Given the description of an element on the screen output the (x, y) to click on. 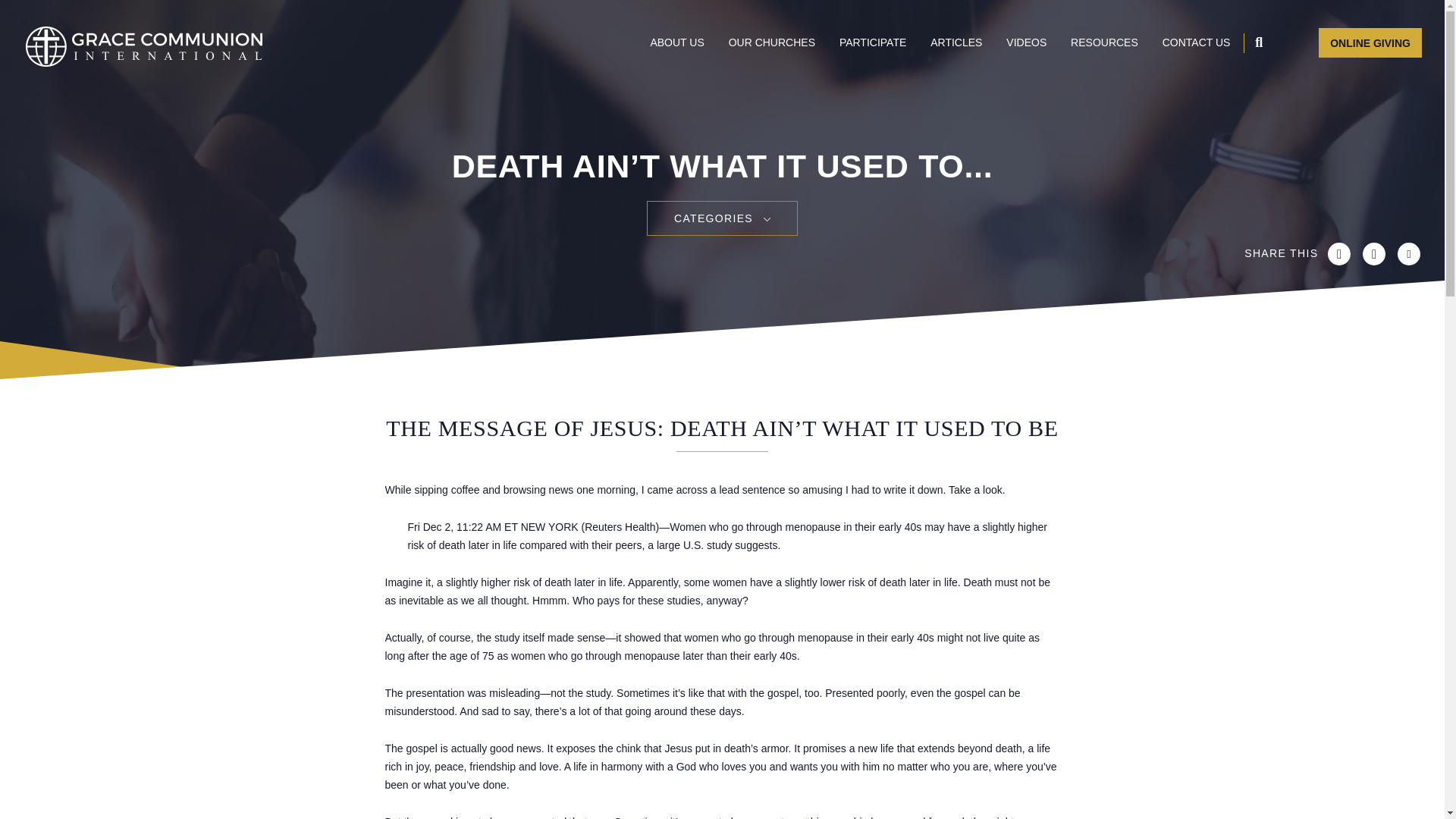
PARTICIPATE (872, 41)
ARTICLES (955, 41)
RESOURCES (1104, 41)
Grace Communion International (144, 46)
OUR CHURCHES (772, 41)
CONTACT US (1195, 41)
VIDEOS (1026, 41)
ABOUT US (676, 41)
ONLINE GIVING (1370, 42)
